Given the description of an element on the screen output the (x, y) to click on. 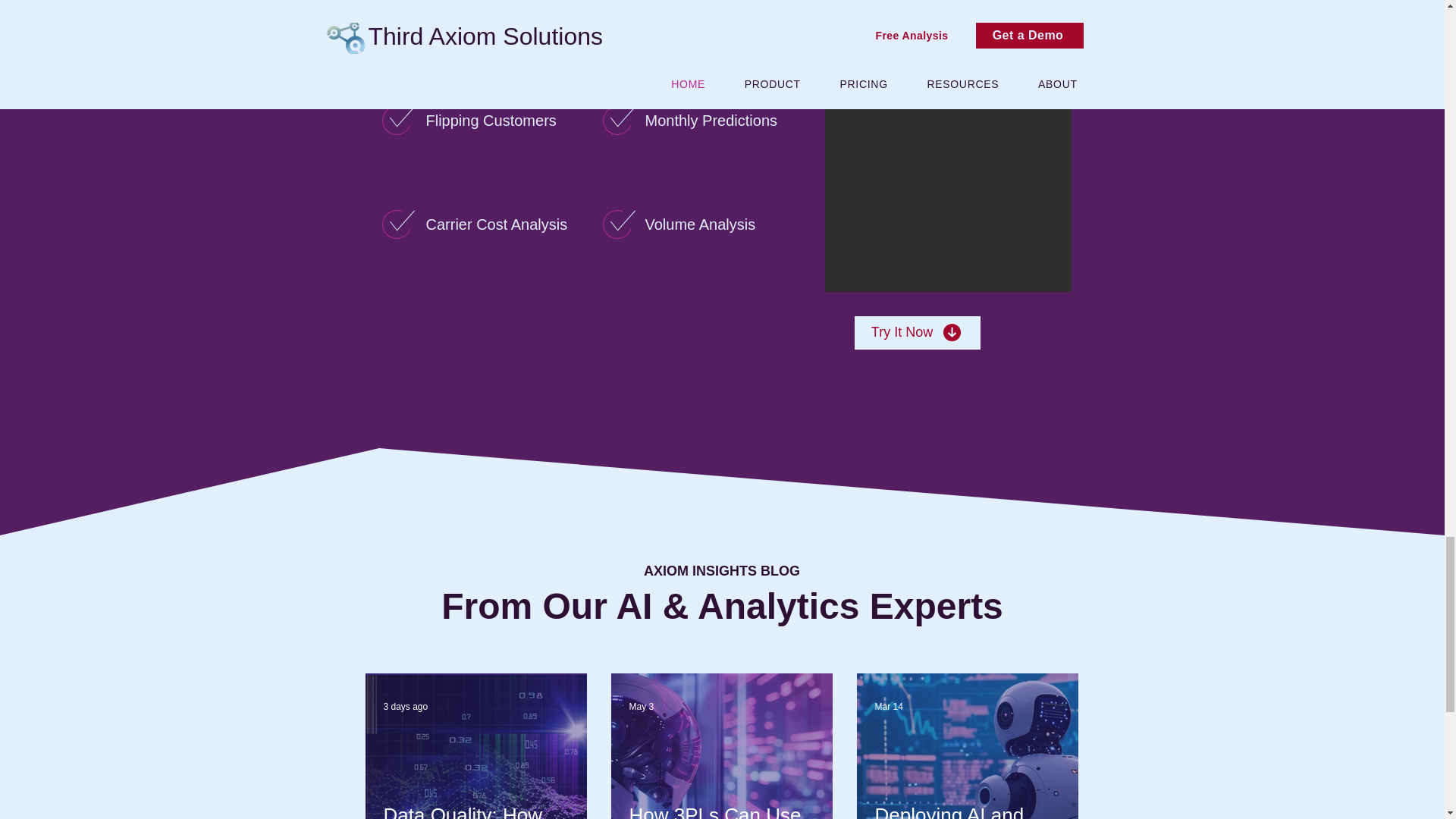
Try It Now (916, 332)
Deploying AI and Analytics for Competitive Advantage (967, 811)
Mar 14 (888, 706)
May 3 (640, 706)
Data Quality: How 3PLs Can Build More Trustworthy Reports (476, 811)
3 days ago (406, 706)
